Given the description of an element on the screen output the (x, y) to click on. 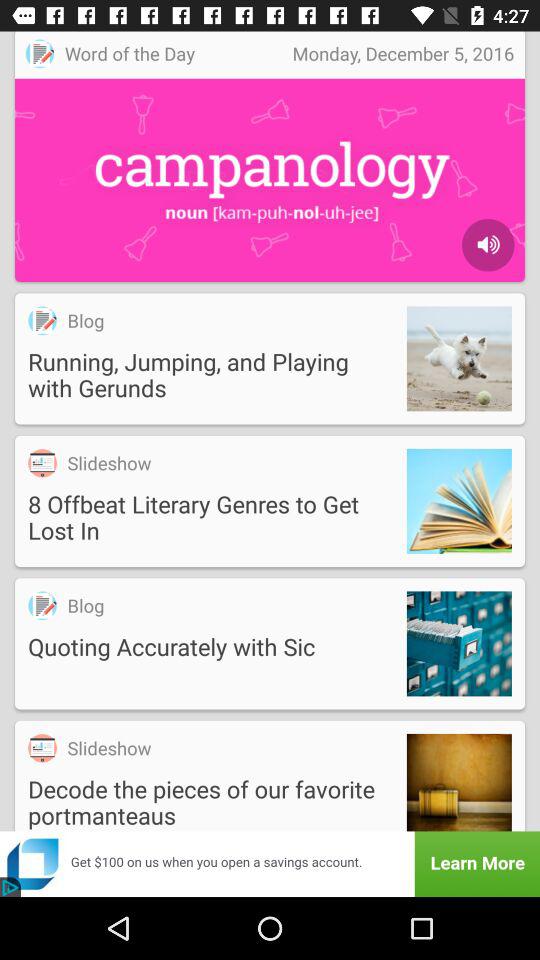
visit sponsor advertisement (270, 864)
